Given the description of an element on the screen output the (x, y) to click on. 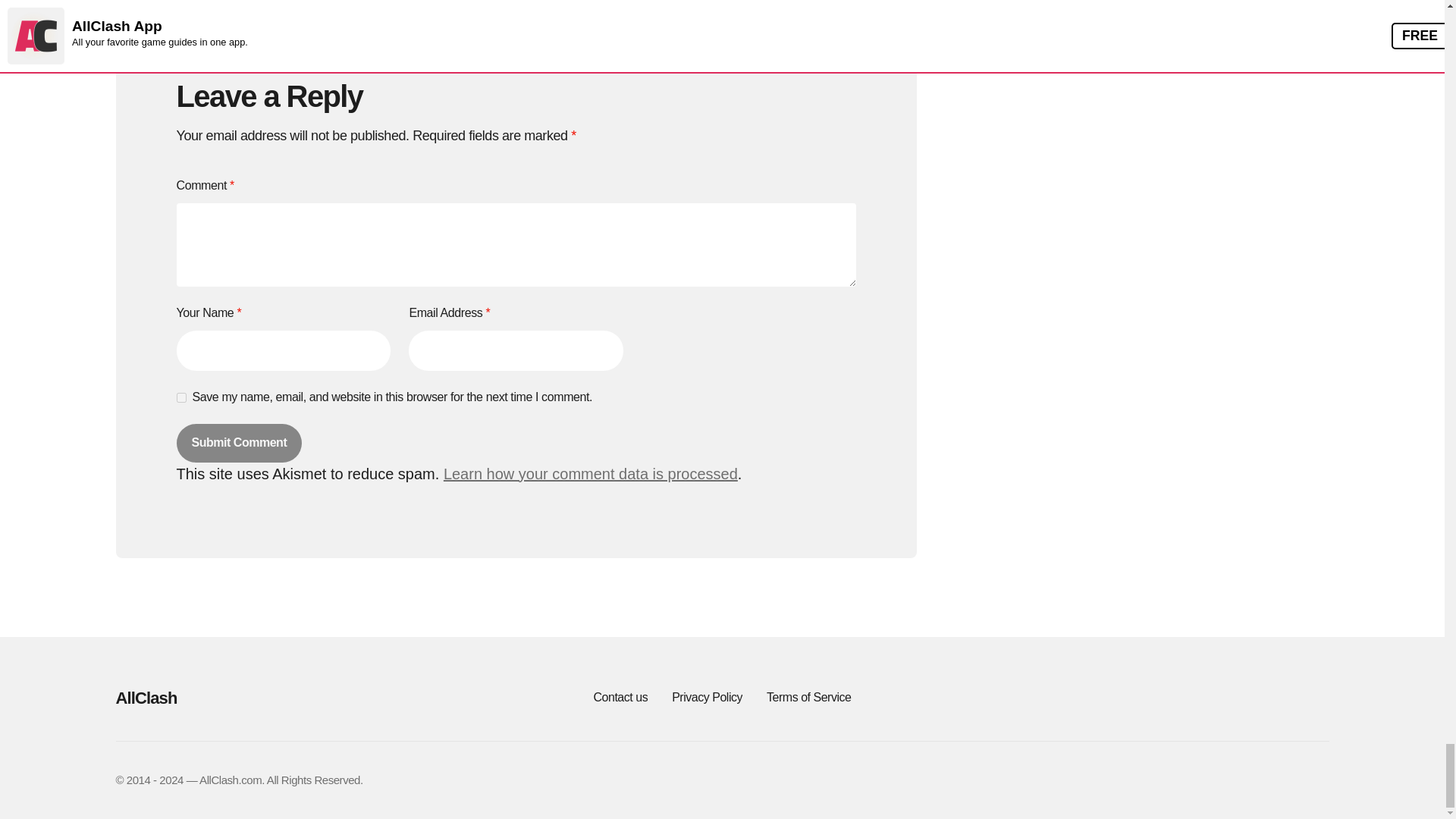
yes (181, 397)
